Given the description of an element on the screen output the (x, y) to click on. 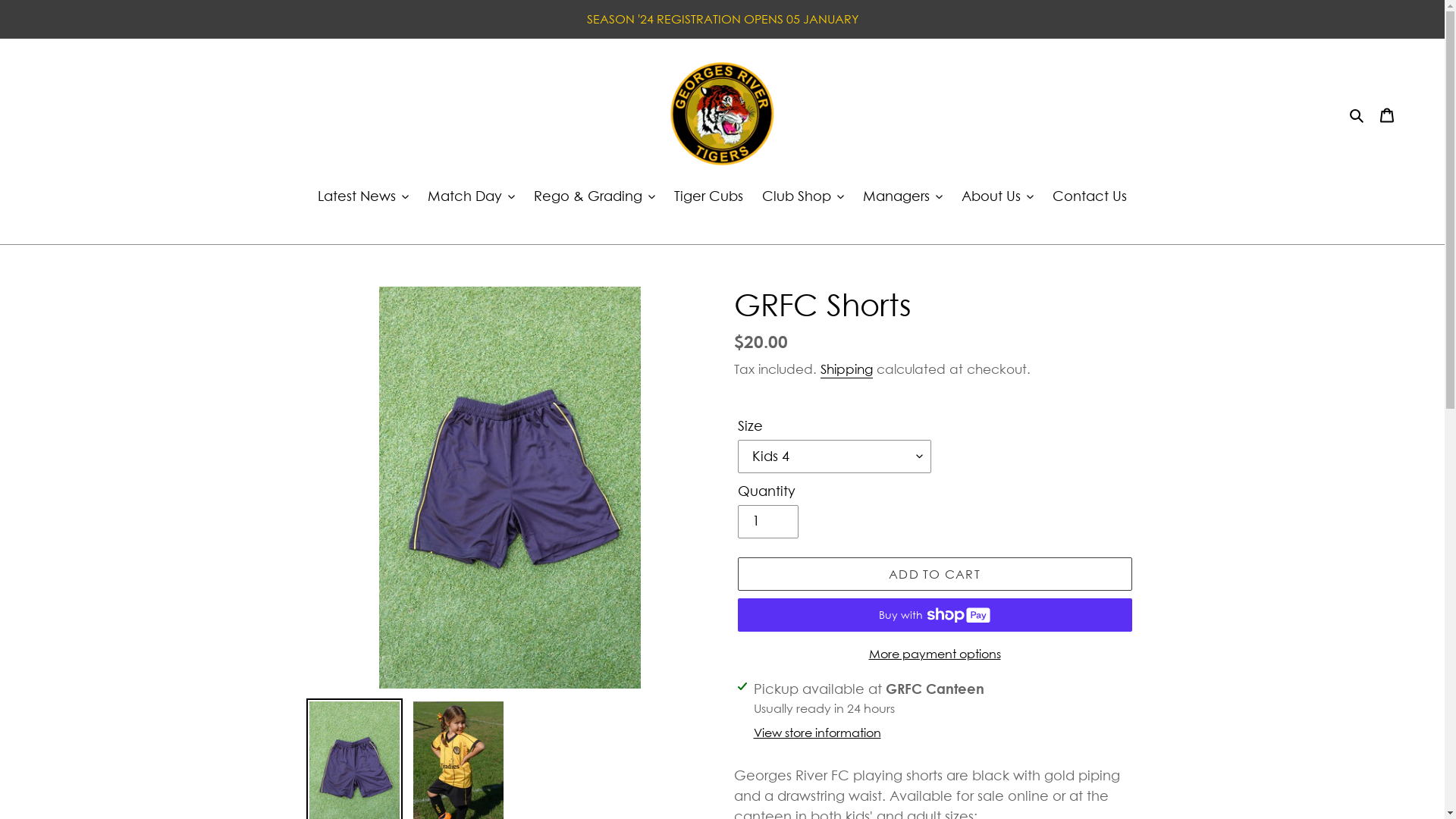
View store information Element type: text (817, 732)
ADD TO CART Element type: text (934, 572)
Shipping Element type: text (846, 369)
More payment options Element type: text (934, 653)
Club Shop Element type: text (802, 196)
Search Element type: text (1357, 114)
About Us Element type: text (997, 196)
Match Day Element type: text (471, 196)
Contact Us Element type: text (1089, 196)
Managers Element type: text (902, 196)
Cart Element type: text (1386, 113)
Tiger Cubs Element type: text (708, 196)
Latest News Element type: text (363, 196)
Rego & Grading Element type: text (594, 196)
